Given the description of an element on the screen output the (x, y) to click on. 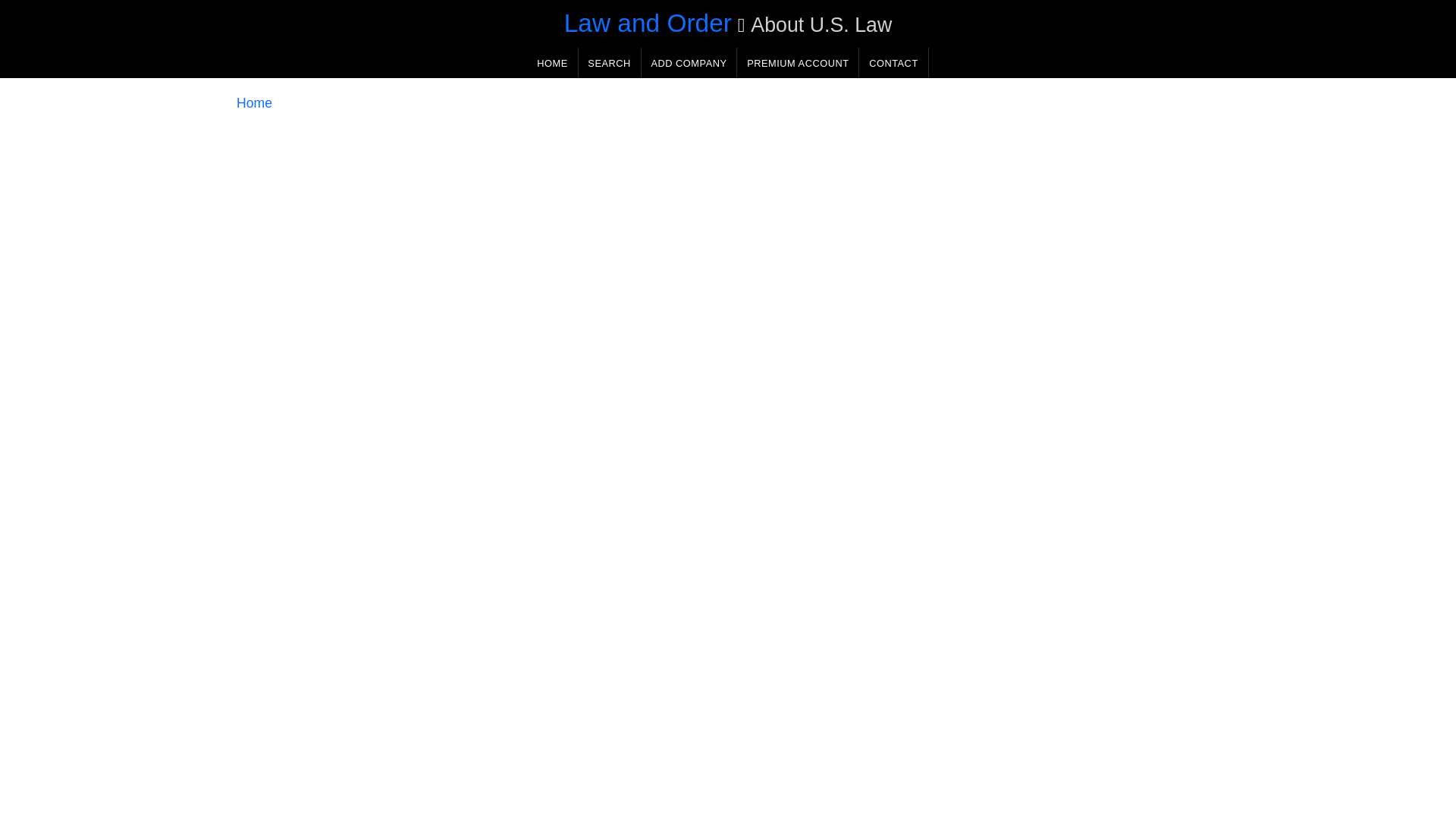
Search in this webseite. (609, 62)
ADD COMPANY (689, 62)
HOME (551, 62)
PREMIUM ACCOUNT (797, 62)
Home (253, 102)
SEARCH (609, 62)
Law and Order (648, 22)
Add a new company (689, 62)
Premium account (797, 62)
CONTACT (893, 62)
